Given the description of an element on the screen output the (x, y) to click on. 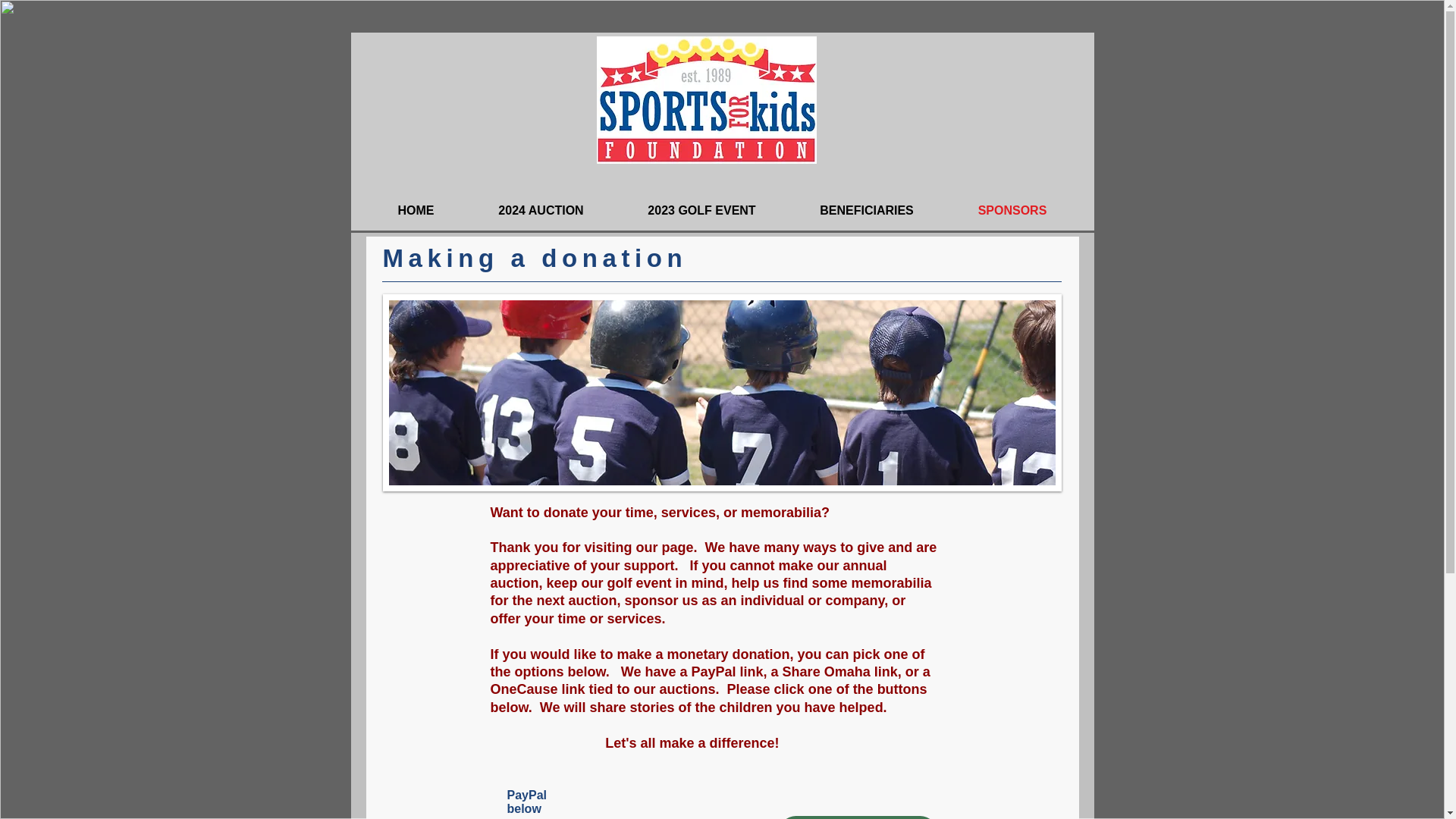
BENEFICIARIES (865, 210)
HOME (415, 210)
2023 GOLF EVENT (701, 210)
SPONSORS (1012, 210)
2024 AUCTION (540, 210)
One Cause link (856, 817)
